Given the description of an element on the screen output the (x, y) to click on. 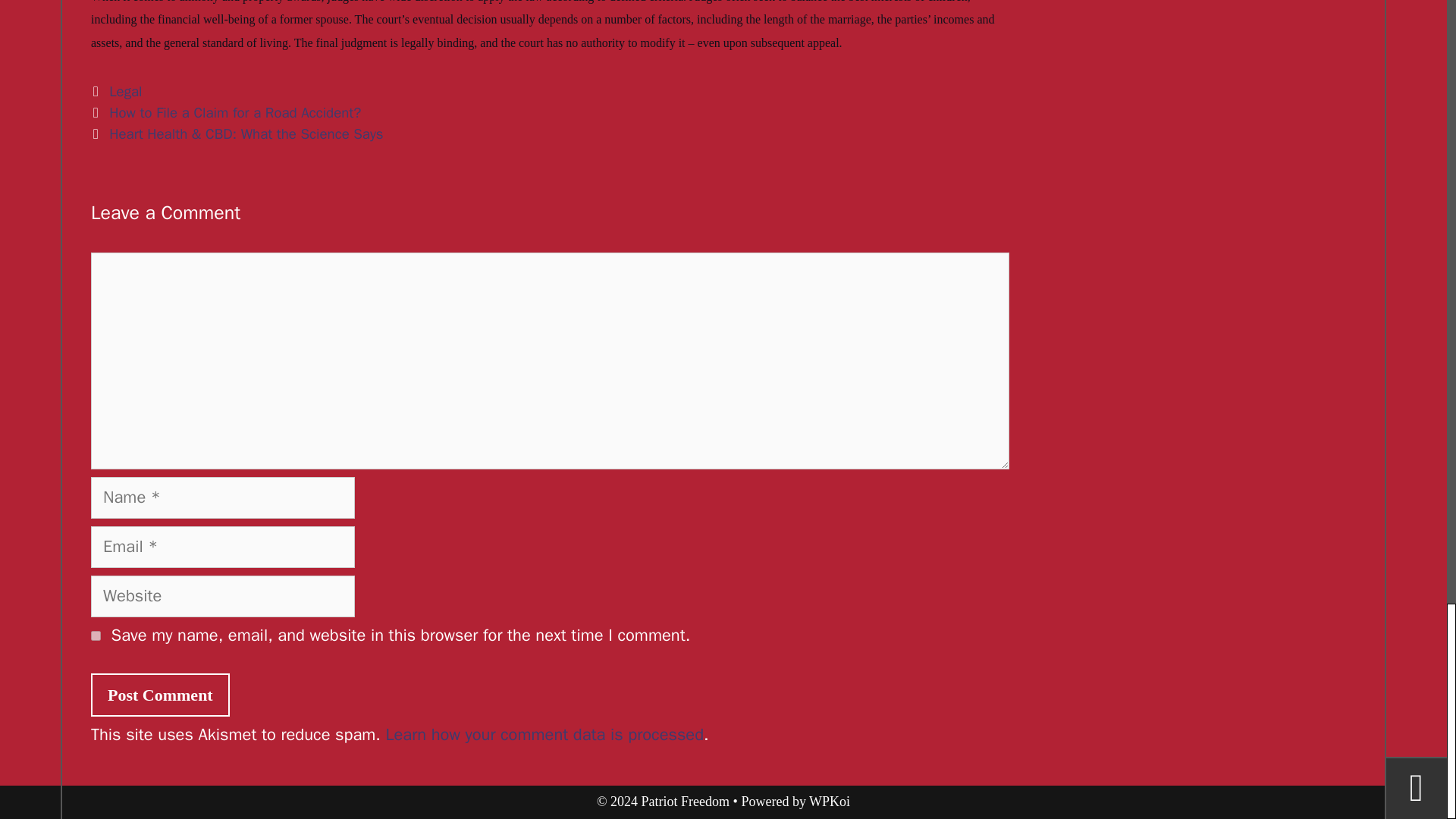
Previous (225, 113)
Legal (125, 91)
yes (95, 635)
WPKoi (829, 801)
How to File a Claim for a Road Accident? (235, 113)
Post Comment (160, 694)
Next (237, 134)
Post Comment (160, 694)
Learn how your comment data is processed (544, 734)
